Given the description of an element on the screen output the (x, y) to click on. 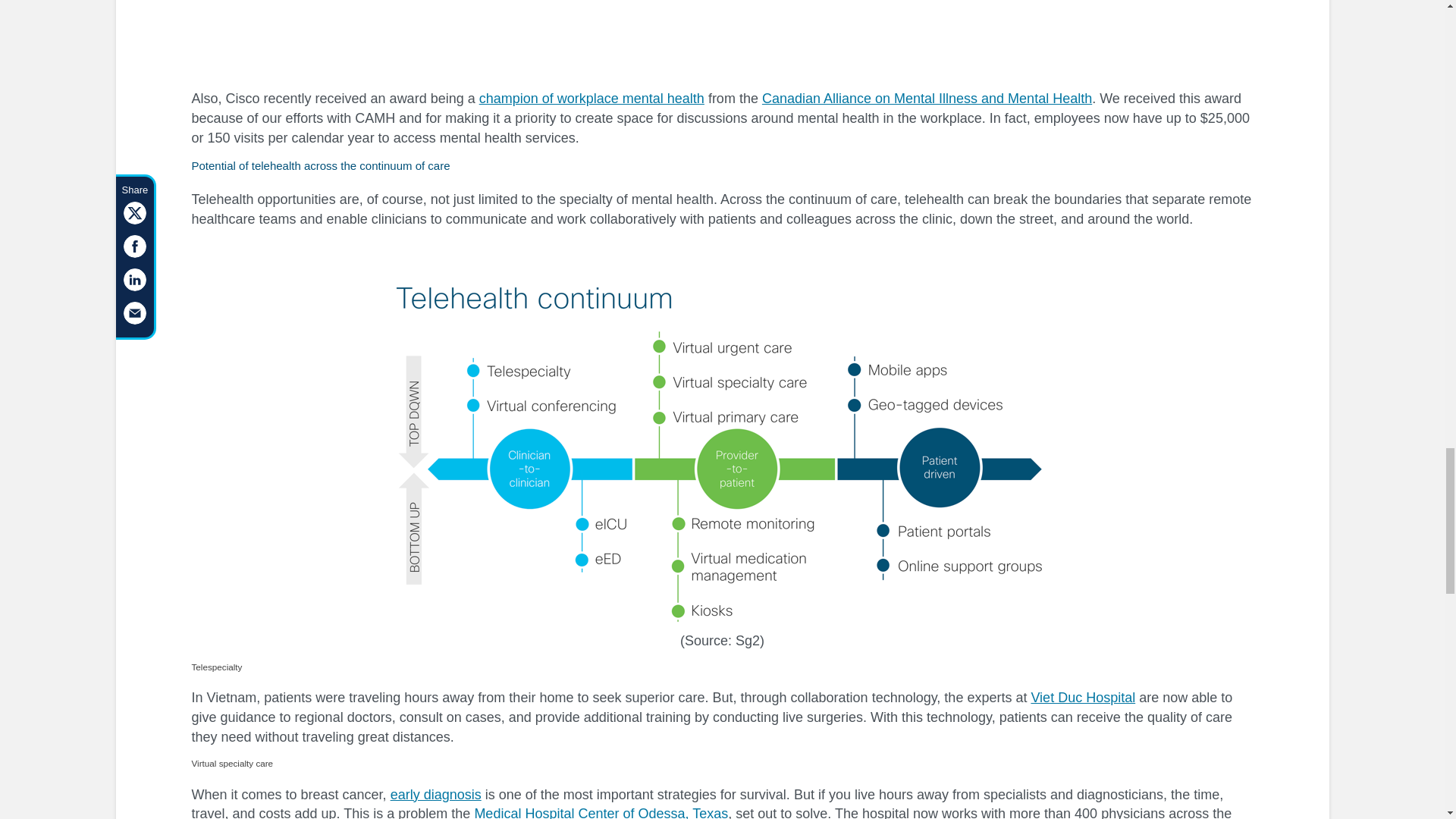
early diagnosis (435, 794)
champion of workplace mental health (591, 98)
Canadian Alliance on Mental Illness and Mental Health (926, 98)
Viet Duc Hospital (1082, 697)
Medical Hospital Center of Odessa, Texas (601, 812)
